Given the description of an element on the screen output the (x, y) to click on. 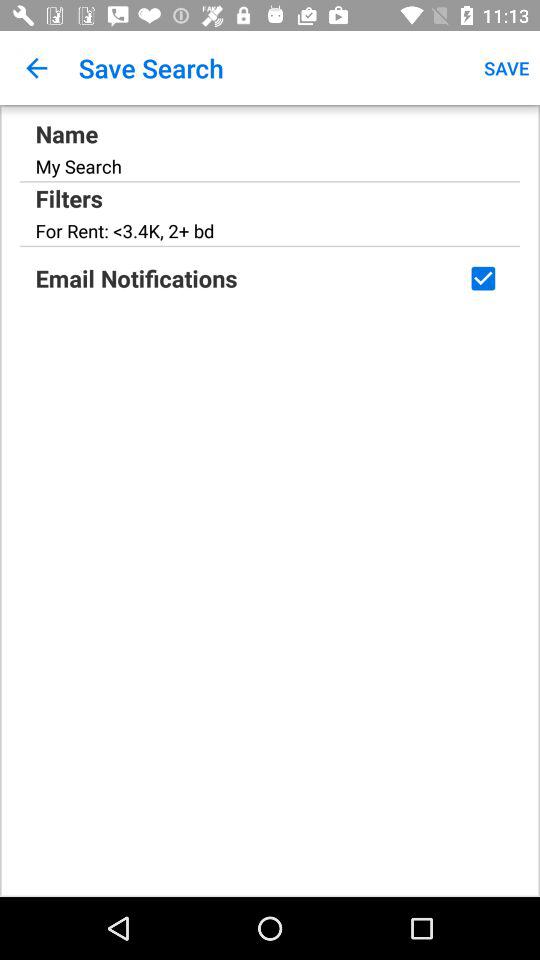
turn on notification (483, 278)
